Given the description of an element on the screen output the (x, y) to click on. 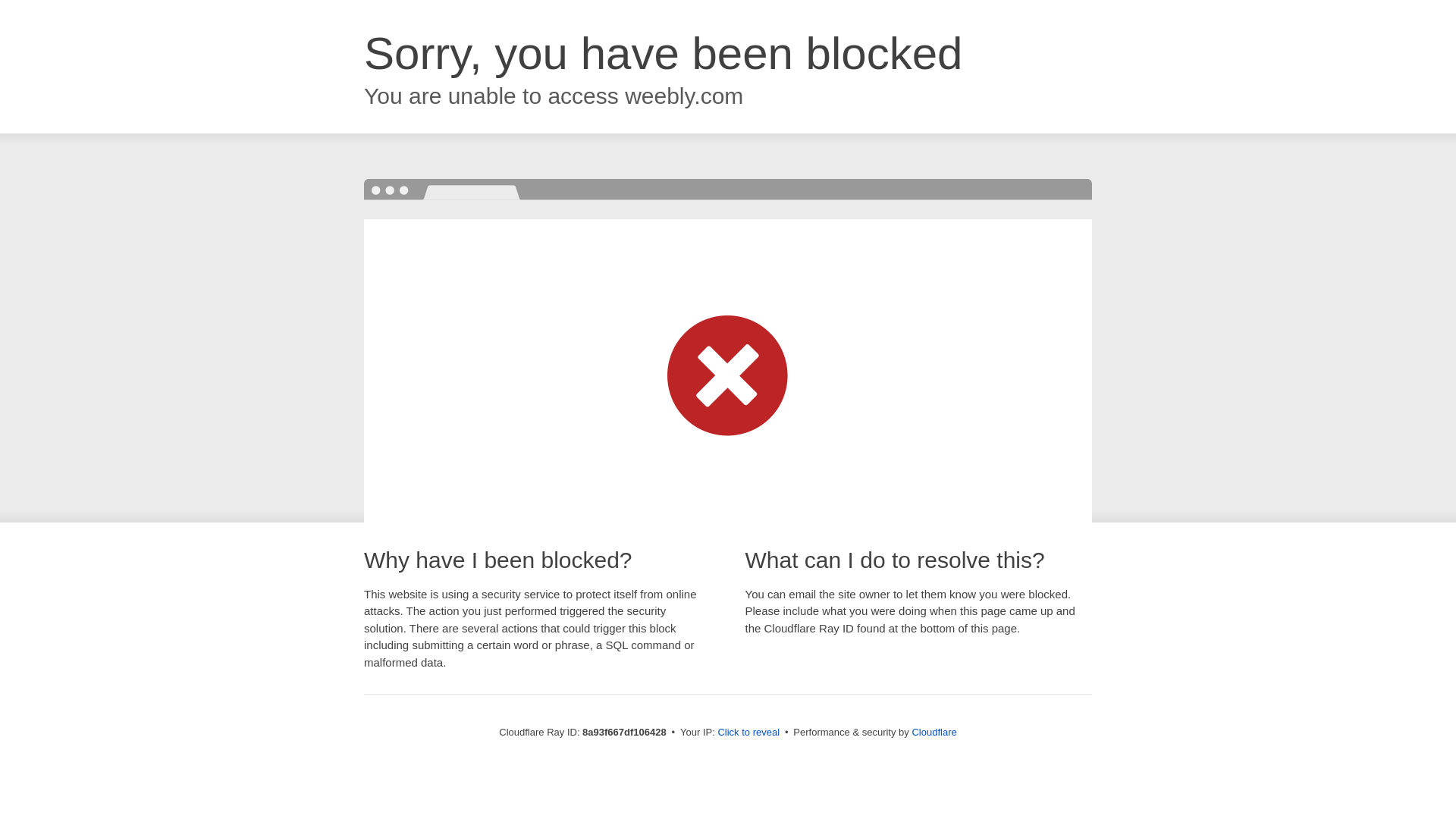
Click to reveal (747, 732)
Cloudflare (933, 731)
